Given the description of an element on the screen output the (x, y) to click on. 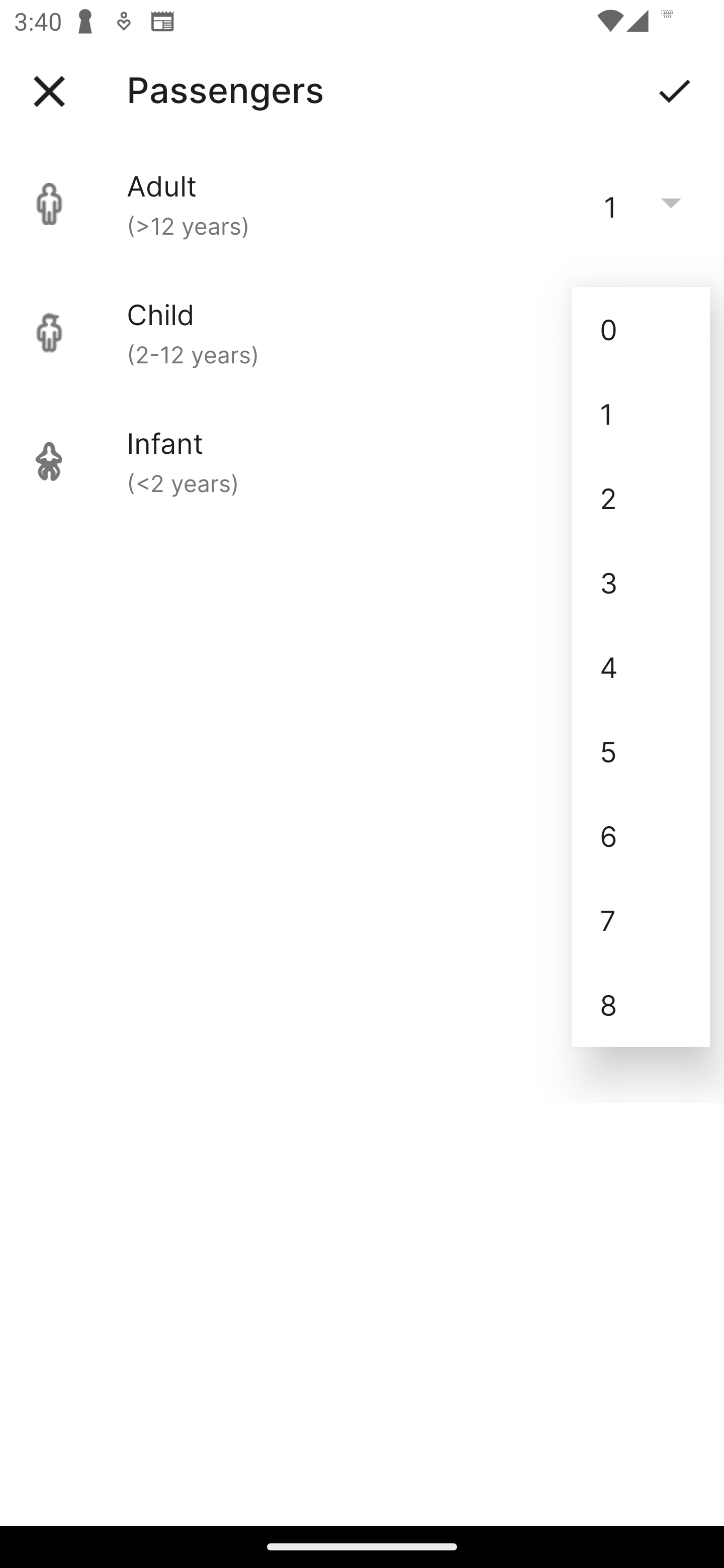
0 (640, 328)
1 (640, 413)
2 (640, 498)
3 (640, 582)
4 (640, 666)
5 (640, 750)
6 (640, 835)
7 (640, 920)
8 (640, 1004)
